Given the description of an element on the screen output the (x, y) to click on. 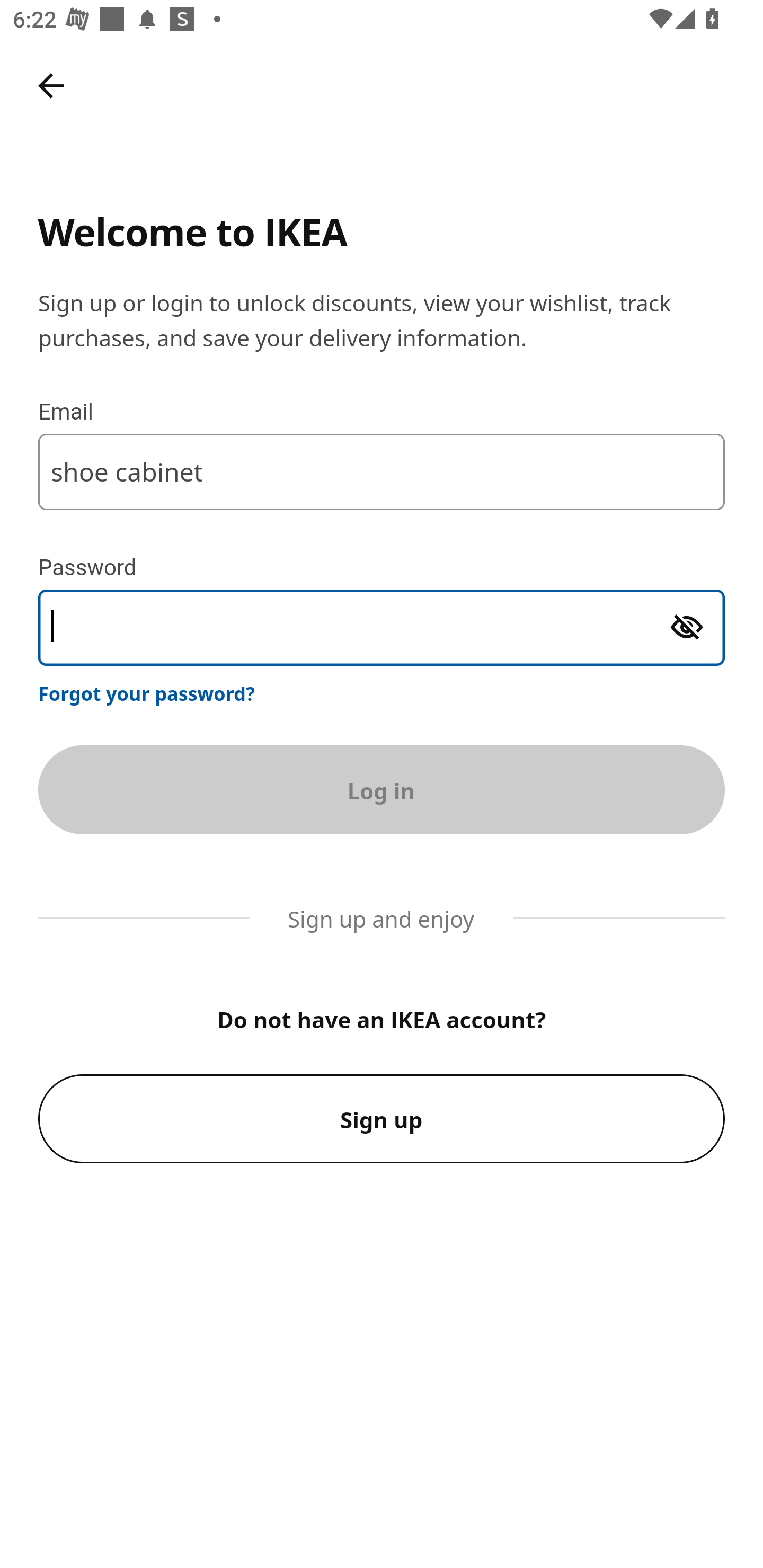
shoe cabinet (381, 471)
Forgot your password? (146, 692)
Log in (381, 789)
Sign up (381, 1118)
